Given the description of an element on the screen output the (x, y) to click on. 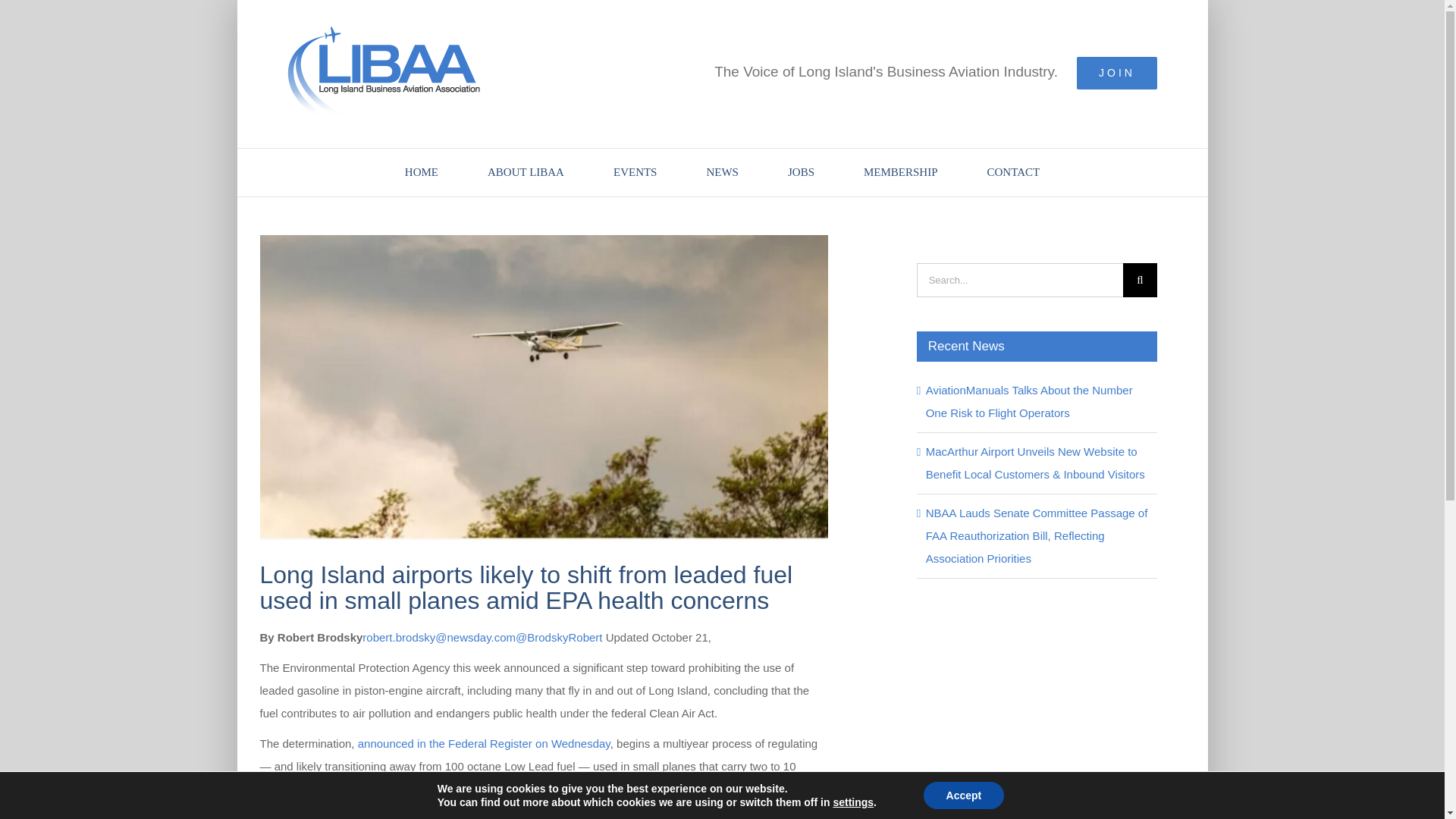
CONTACT (1014, 172)
EVENTS (635, 172)
ABOUT LIBAA (525, 172)
JOIN (1117, 72)
MEMBERSHIP (900, 172)
